Given the description of an element on the screen output the (x, y) to click on. 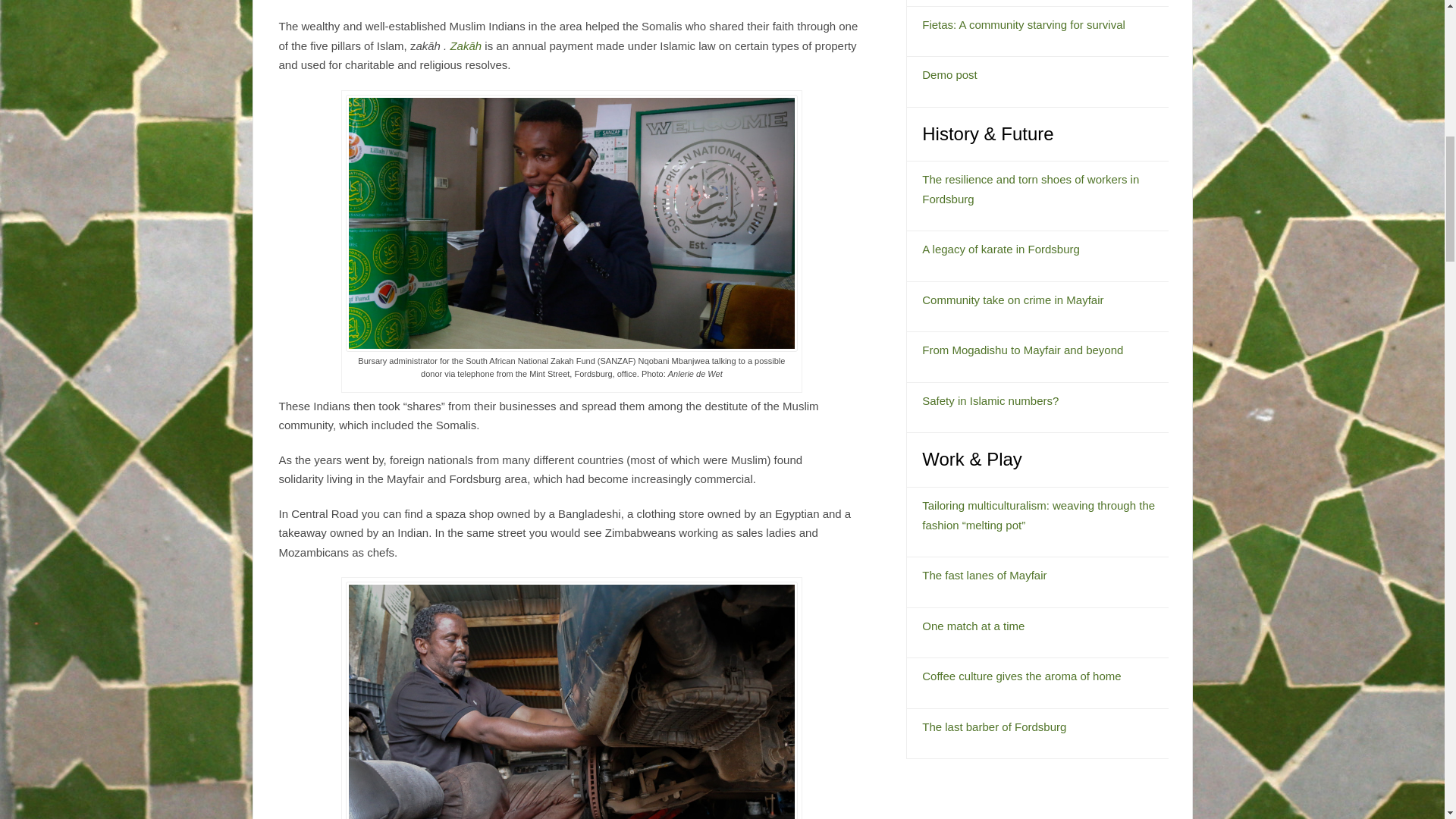
Fietas: A community starving for survival (1023, 24)
The resilience and torn shoes of workers in Fordsburg (1029, 188)
Community take on crime in Mayfair (1012, 299)
From Mogadishu to Mayfair and beyond (1021, 349)
Safety in Islamic numbers? (989, 400)
A legacy of karate in Fordsburg (1000, 248)
Demo post (948, 74)
